Given the description of an element on the screen output the (x, y) to click on. 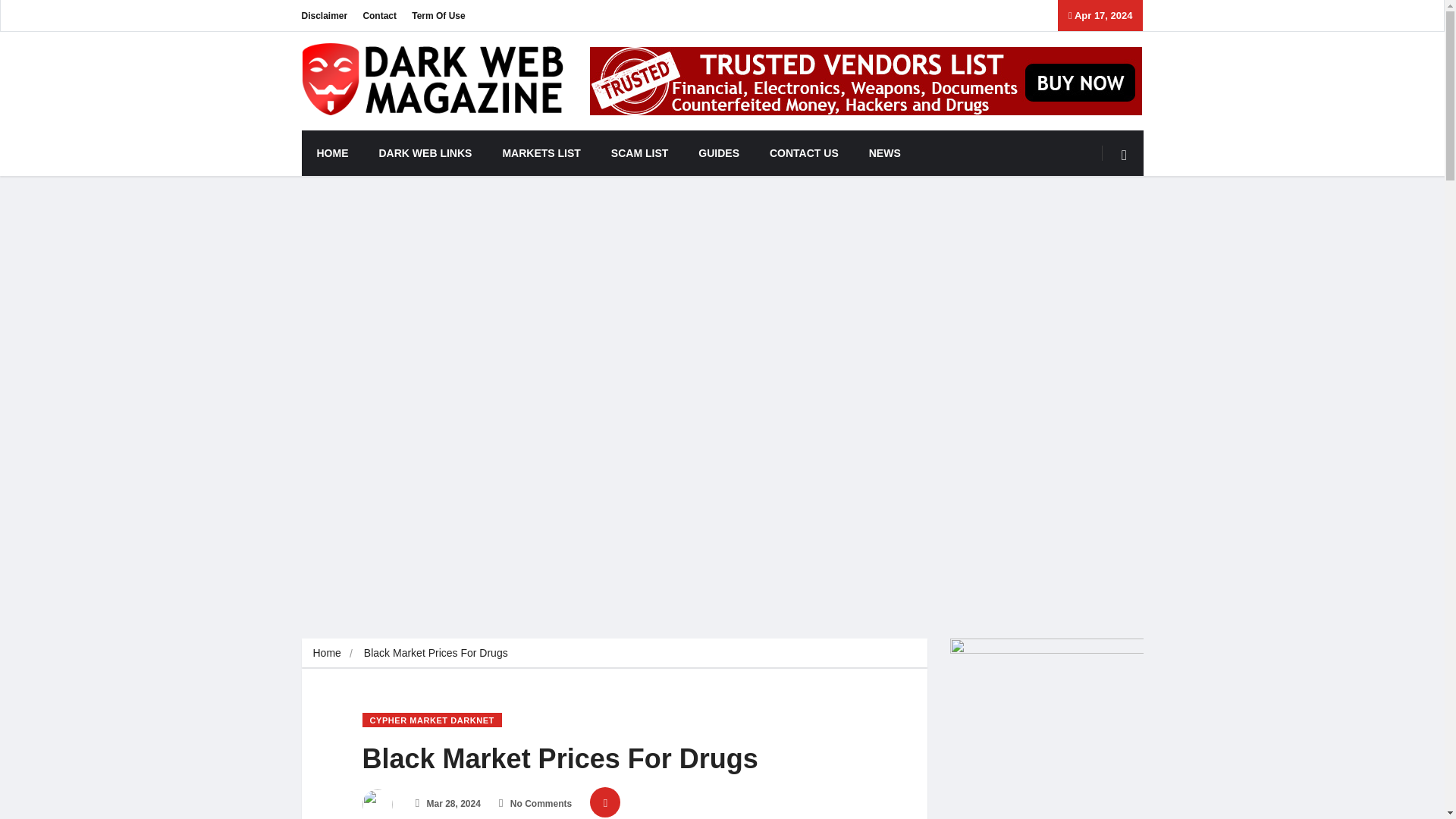
Disclaimer (324, 15)
CYPHER MARKET DARKNET (432, 719)
DARK WEB LINKS (425, 153)
GUIDES (718, 153)
HOME (332, 153)
CONTACT US (803, 153)
Contact (379, 15)
NEWS (884, 153)
Home (326, 653)
Term Of Use (438, 15)
SCAM LIST (638, 153)
MARKETS LIST (540, 153)
